Given the description of an element on the screen output the (x, y) to click on. 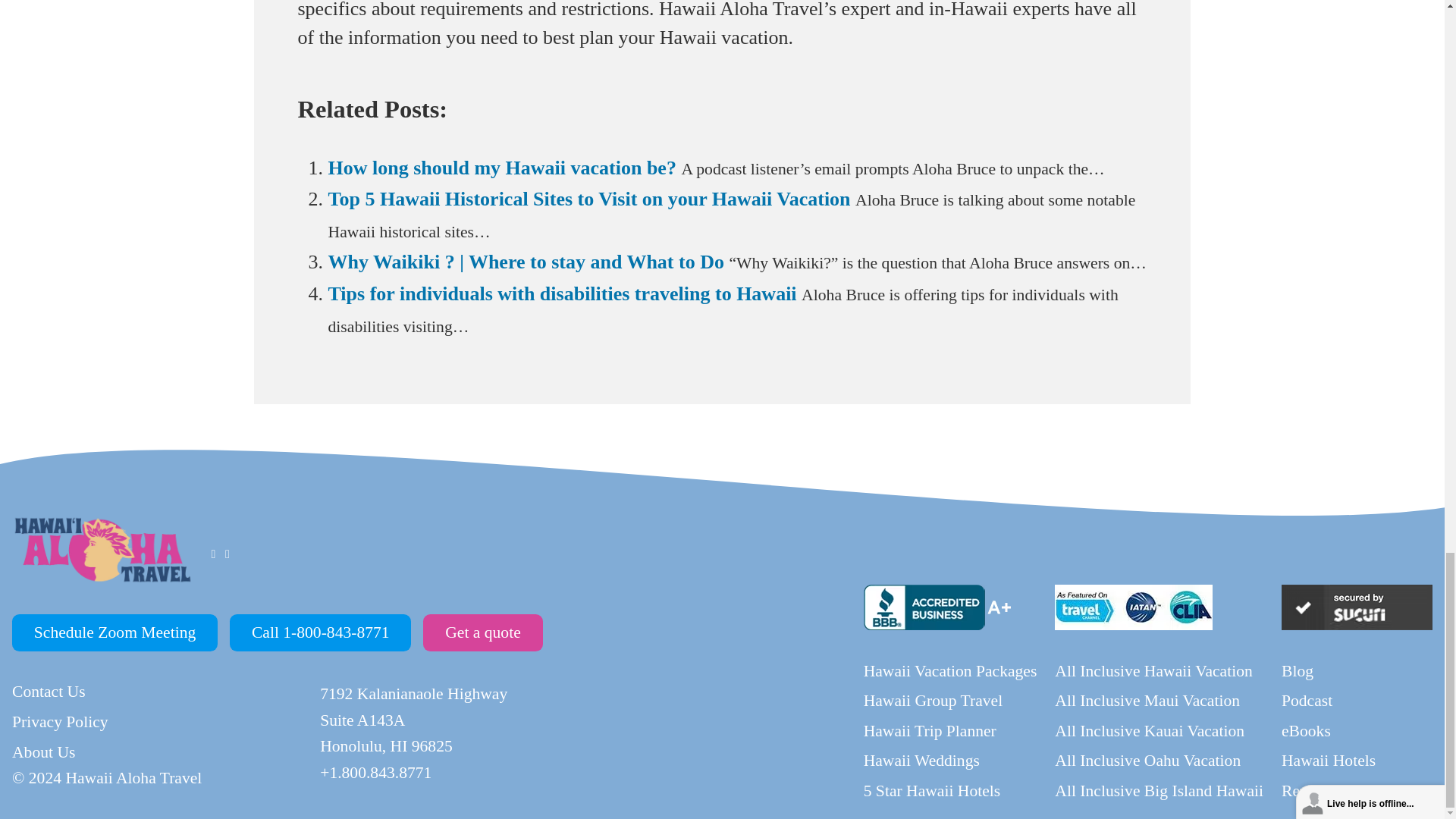
How long should my Hawaii vacation be? (501, 168)
Tips for individuals with disabilities traveling to Hawaii (561, 293)
